Given the description of an element on the screen output the (x, y) to click on. 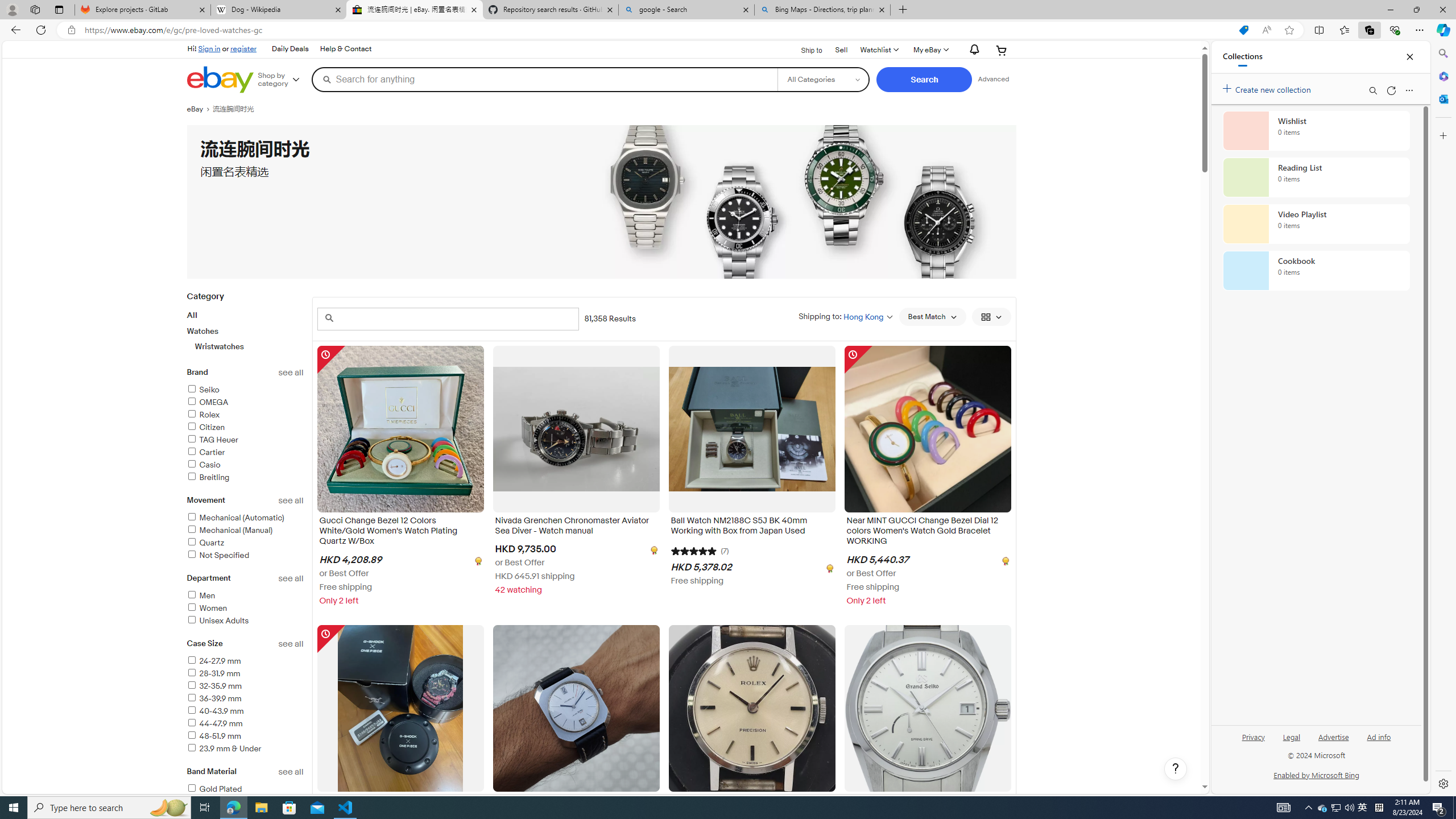
See all brand refinements (291, 372)
Citizen (205, 427)
5 out of 5 stars (693, 550)
Men (200, 595)
Departmentsee allMenWomenUnisex Adults (245, 605)
Unisex Adults (217, 620)
Create new collection (1268, 87)
Wristwatches (249, 346)
Sort: Best Match (932, 316)
24-27.9 mm (213, 660)
